Given the description of an element on the screen output the (x, y) to click on. 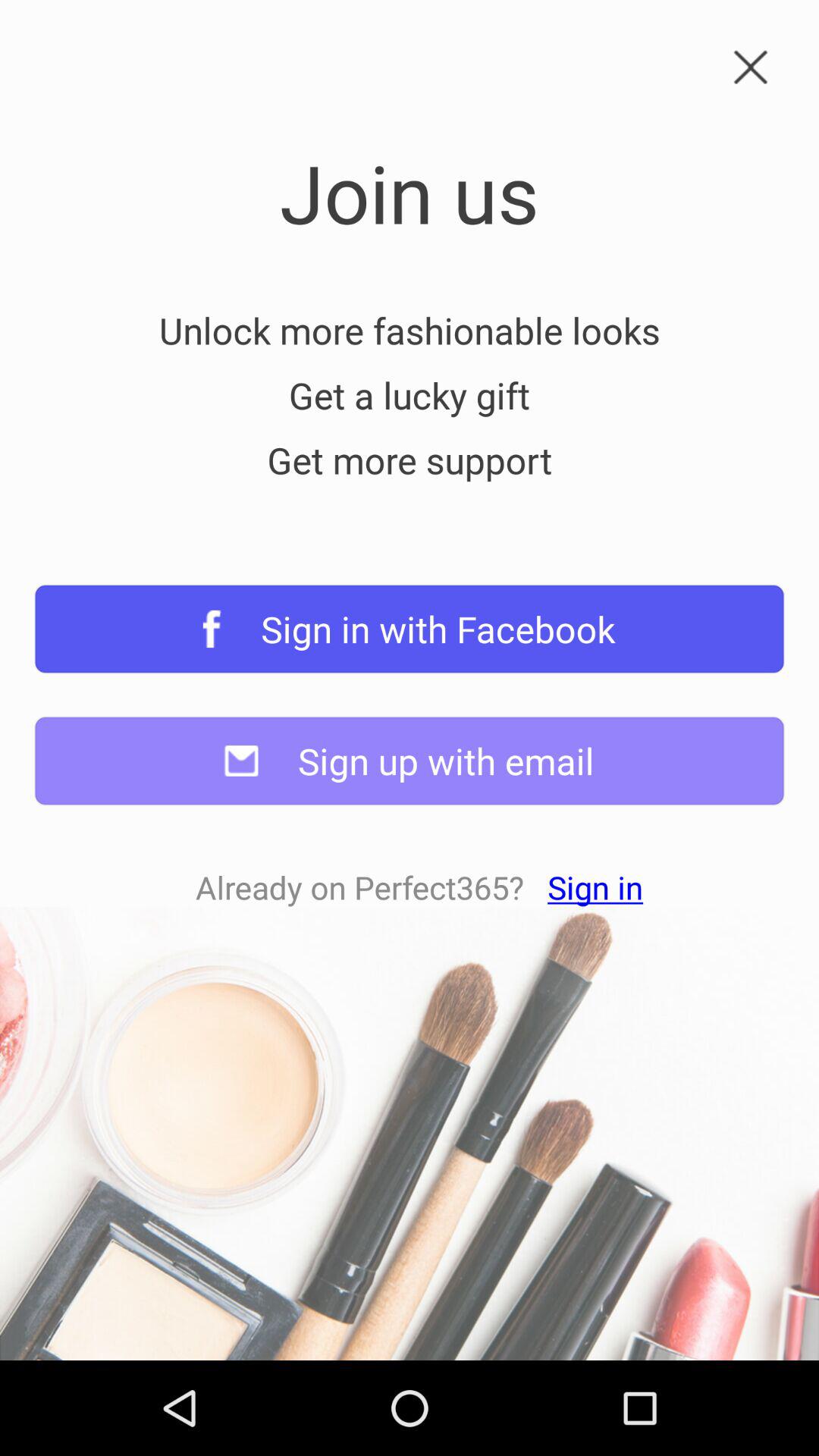
jump to already on perfect365 icon (419, 886)
